Given the description of an element on the screen output the (x, y) to click on. 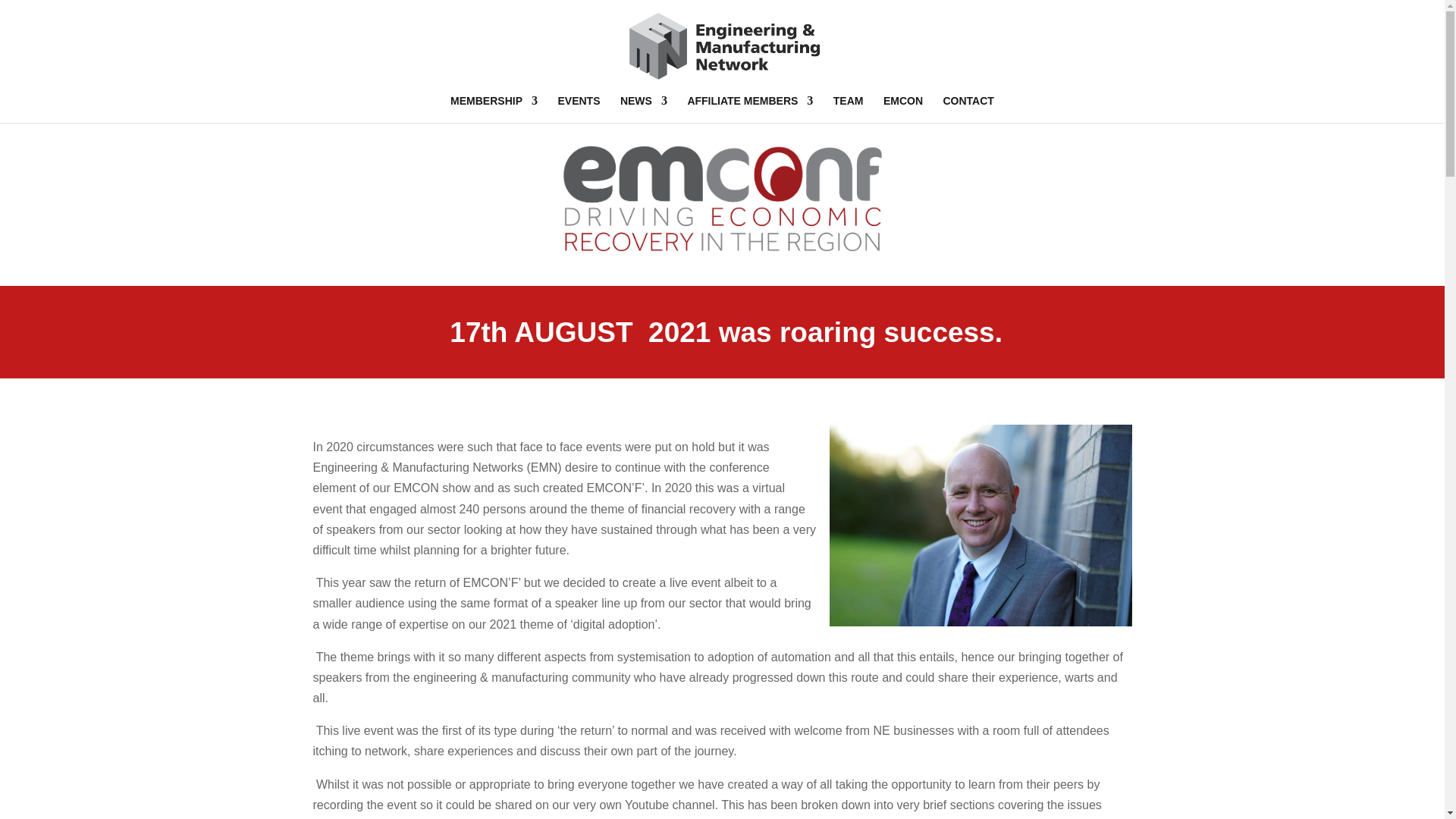
MEMBERSHIP (493, 108)
EMCON (903, 108)
EMCONF Logo with strapline - RGB (721, 198)
EVENTS (578, 108)
AFFILIATE MEMBERS (749, 108)
NEWS (643, 108)
CONTACT (968, 108)
TEAM (847, 108)
